Given the description of an element on the screen output the (x, y) to click on. 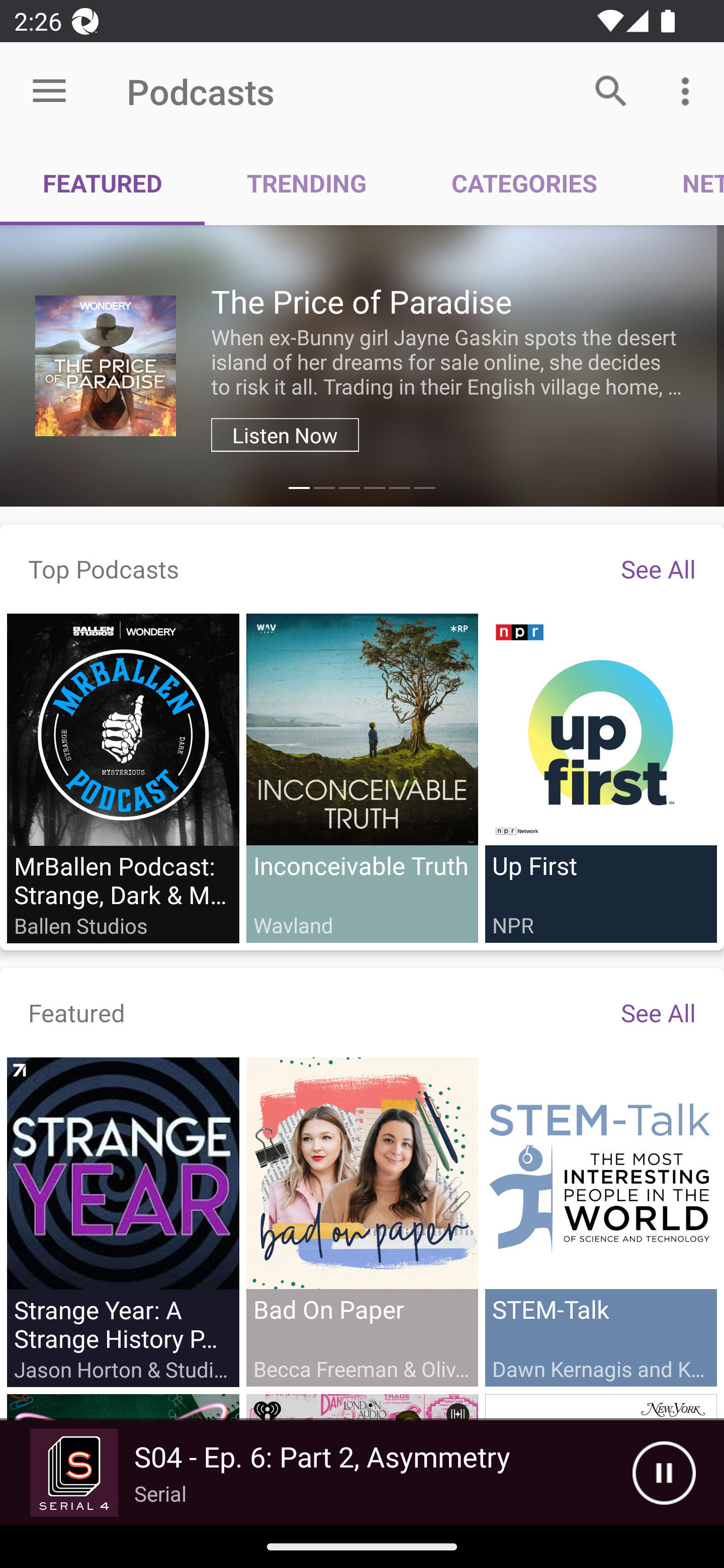
Open menu (49, 91)
Search (611, 90)
More options (688, 90)
FEATURED (102, 183)
TRENDING (306, 183)
CATEGORIES (524, 183)
Top Podcasts (103, 567)
See All (658, 567)
Inconceivable Truth Wavland (361, 777)
Up First NPR (600, 777)
Featured (76, 1011)
See All (658, 1011)
Bad On Paper Becca Freeman & Olivia Muenter (361, 1221)
STEM-Talk Dawn Kernagis and Ken Ford (600, 1221)
Picture S04 - Ep. 6: Part 2, Asymmetry Serial (316, 1472)
Pause (663, 1472)
